Given the description of an element on the screen output the (x, y) to click on. 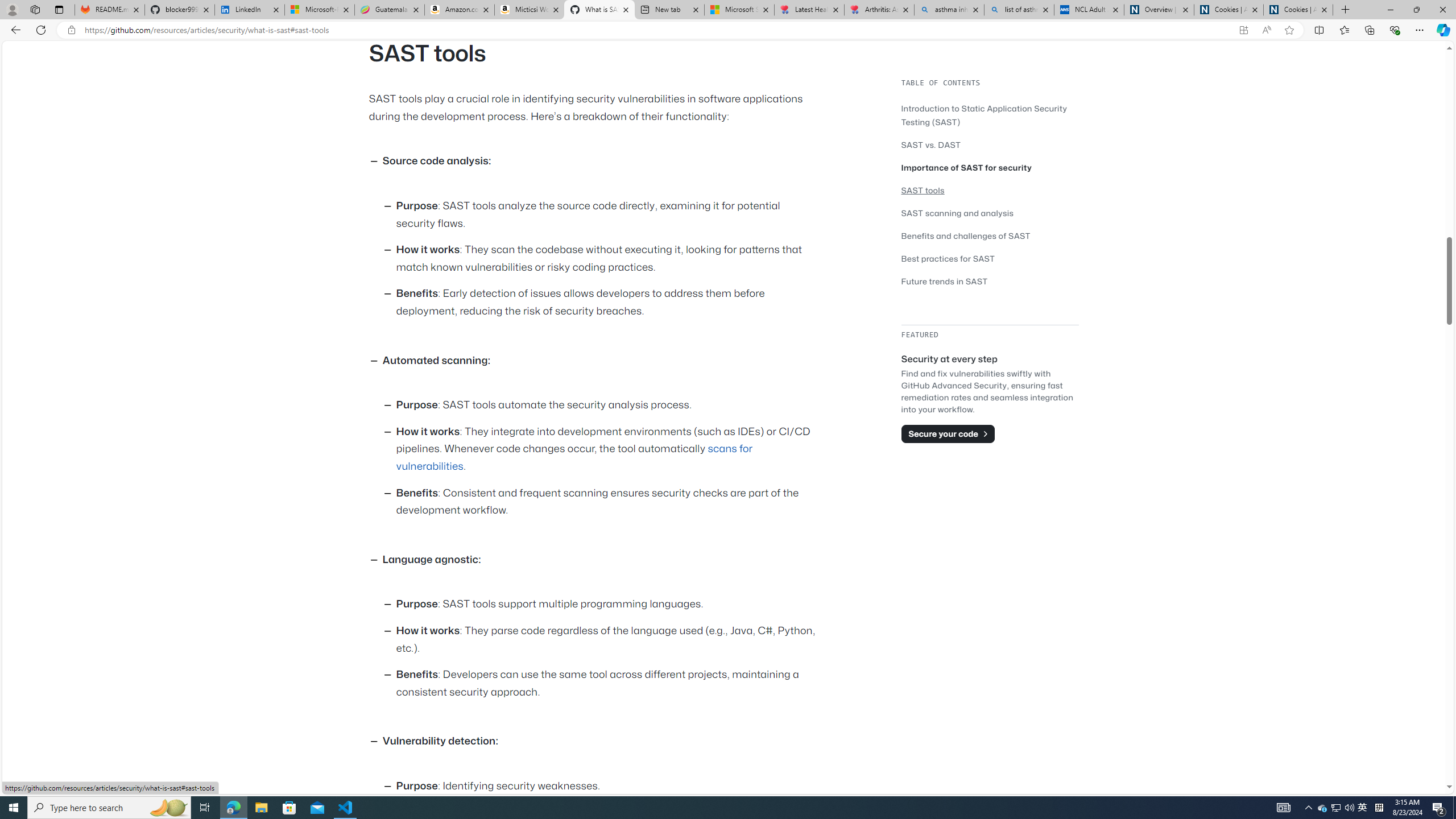
asthma inhaler - Search (949, 9)
Importance of SAST for security (966, 166)
Best practices for SAST (989, 258)
scans for vulnerabilities (574, 457)
Benefits and challenges of SAST (989, 235)
App available. Install GitHub (1243, 29)
